Given the description of an element on the screen output the (x, y) to click on. 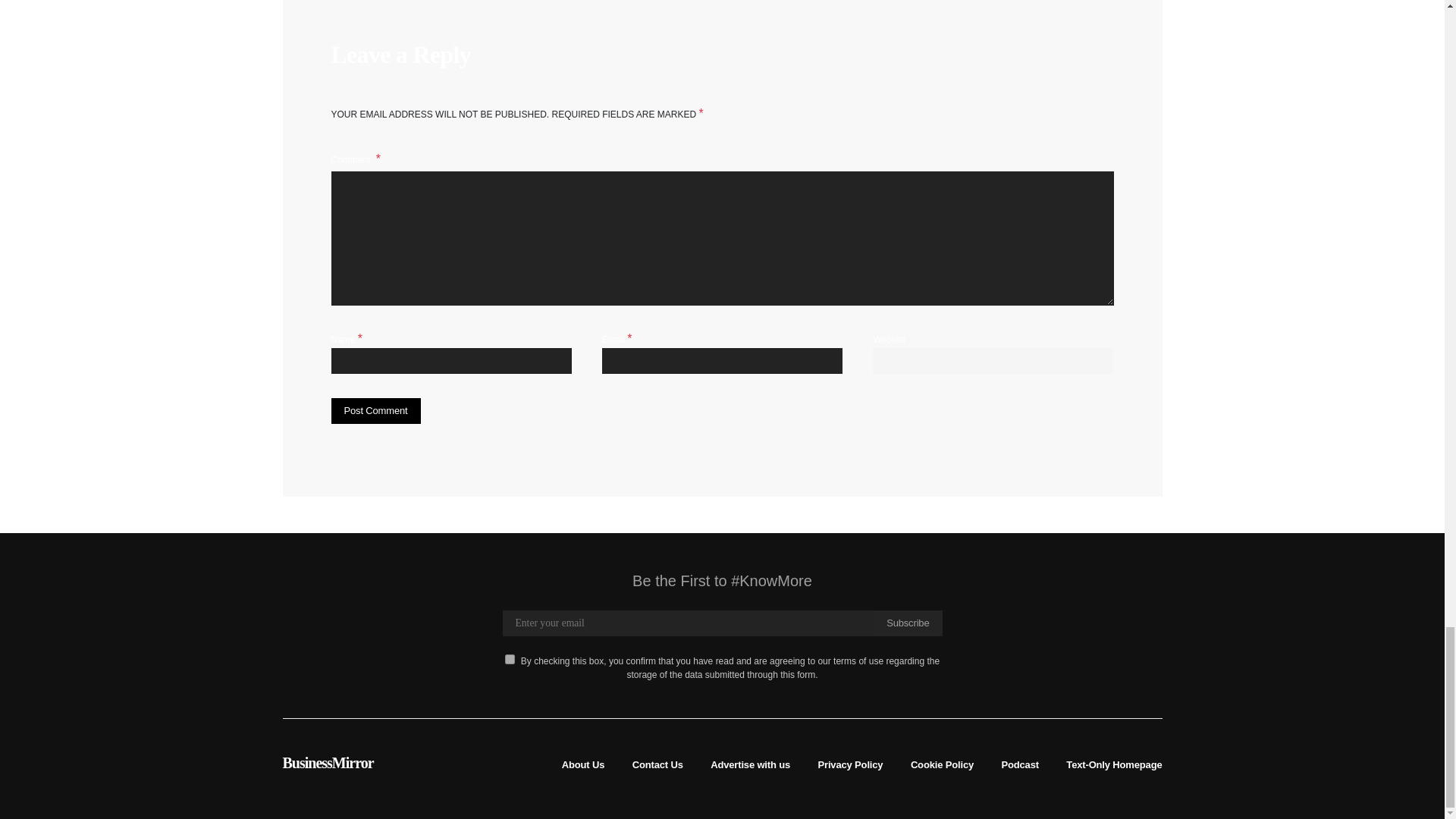
Post Comment (375, 411)
on (510, 659)
